Given the description of an element on the screen output the (x, y) to click on. 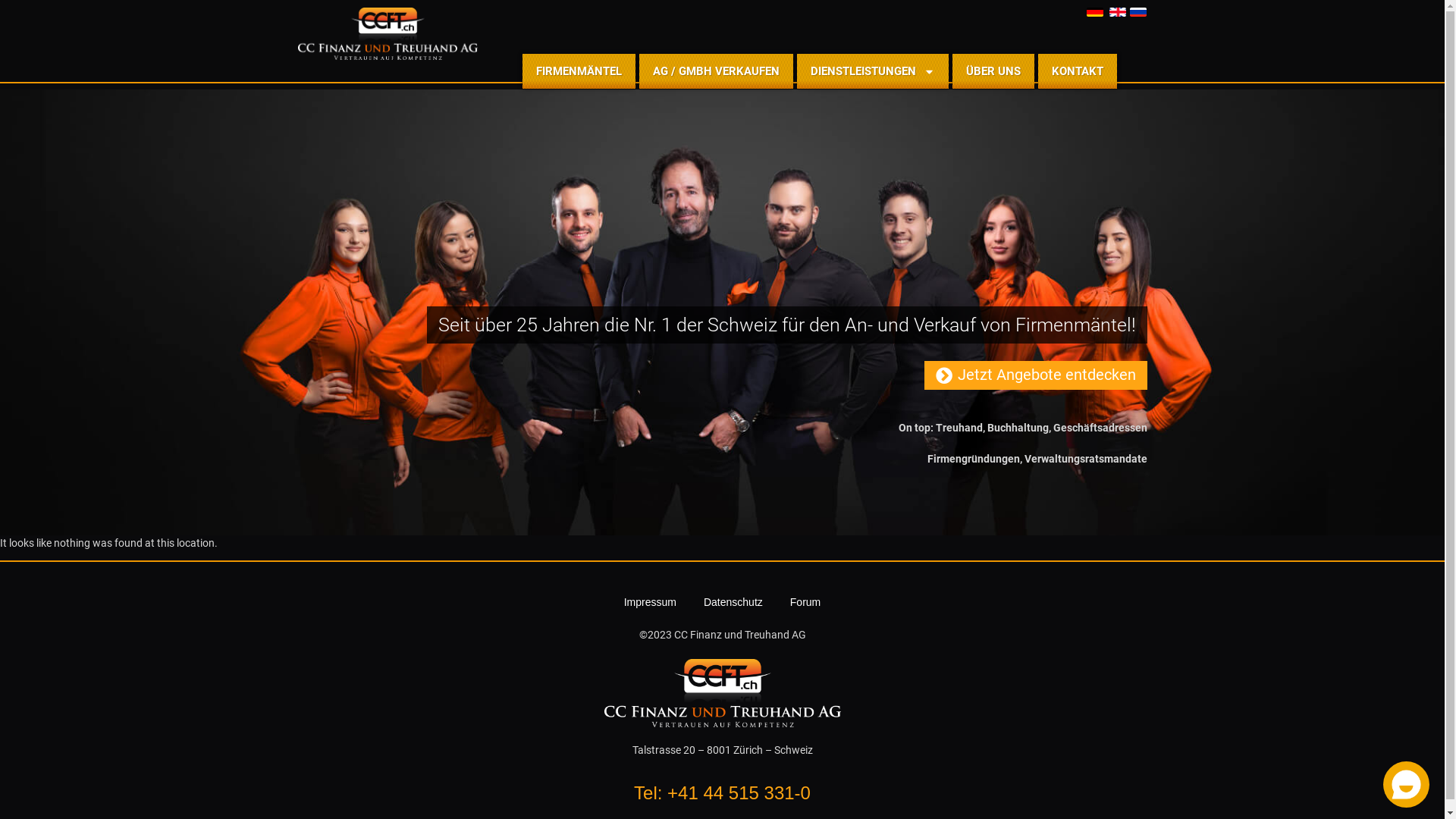
Forum Element type: text (805, 601)
DIENSTLEISTUNGEN Element type: text (872, 70)
Impressum Element type: text (650, 601)
DE Element type: text (1094, 11)
AG / GMBH VERKAUFEN Element type: text (716, 70)
RU Element type: text (1137, 11)
Datenschutz Element type: text (733, 601)
Jetzt Angebote entdecken Element type: text (1034, 374)
KONTAKT Element type: text (1077, 70)
EN Element type: text (1117, 11)
